Given the description of an element on the screen output the (x, y) to click on. 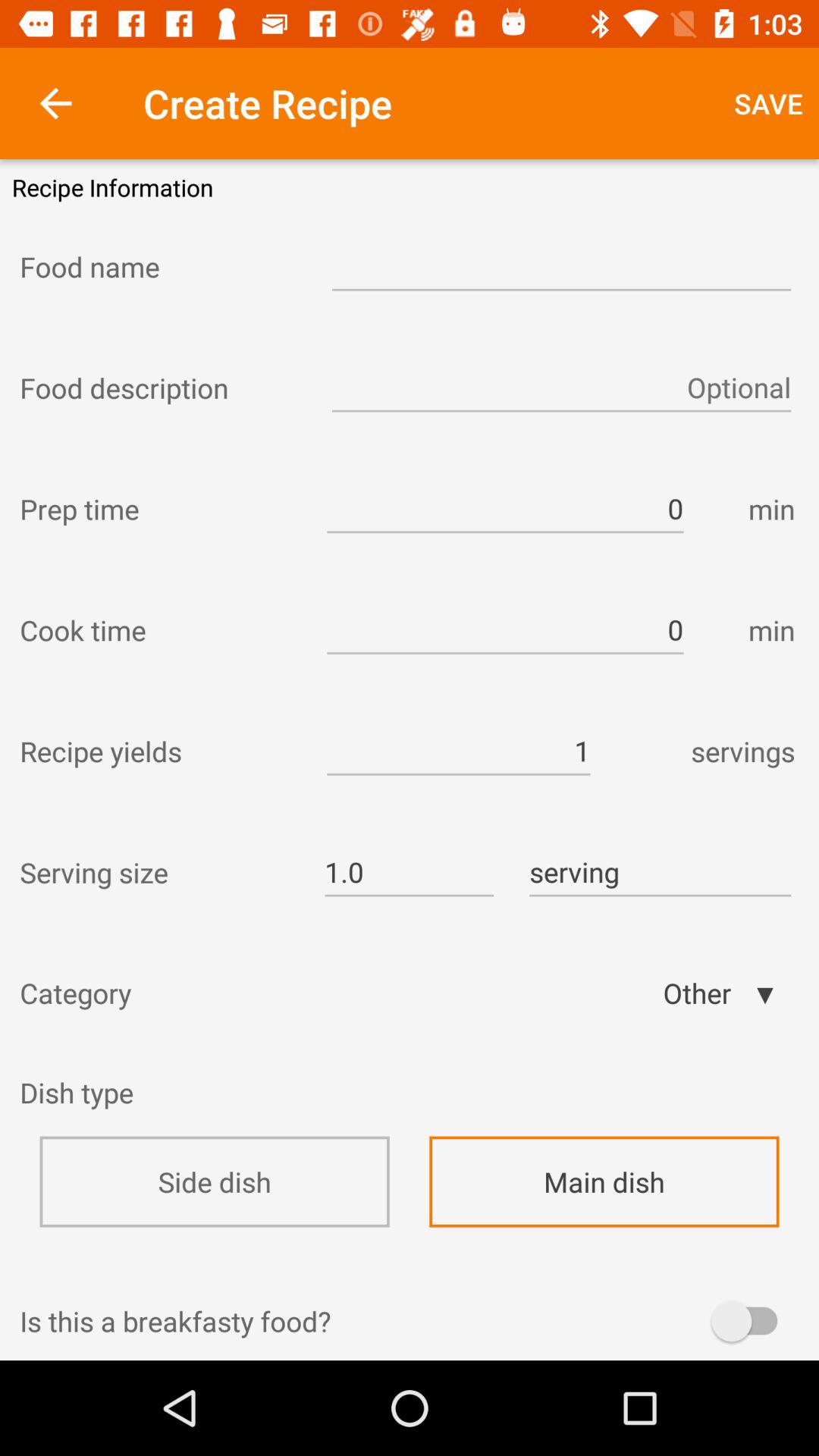
tap the item next to the 1.0 icon (157, 872)
